Given the description of an element on the screen output the (x, y) to click on. 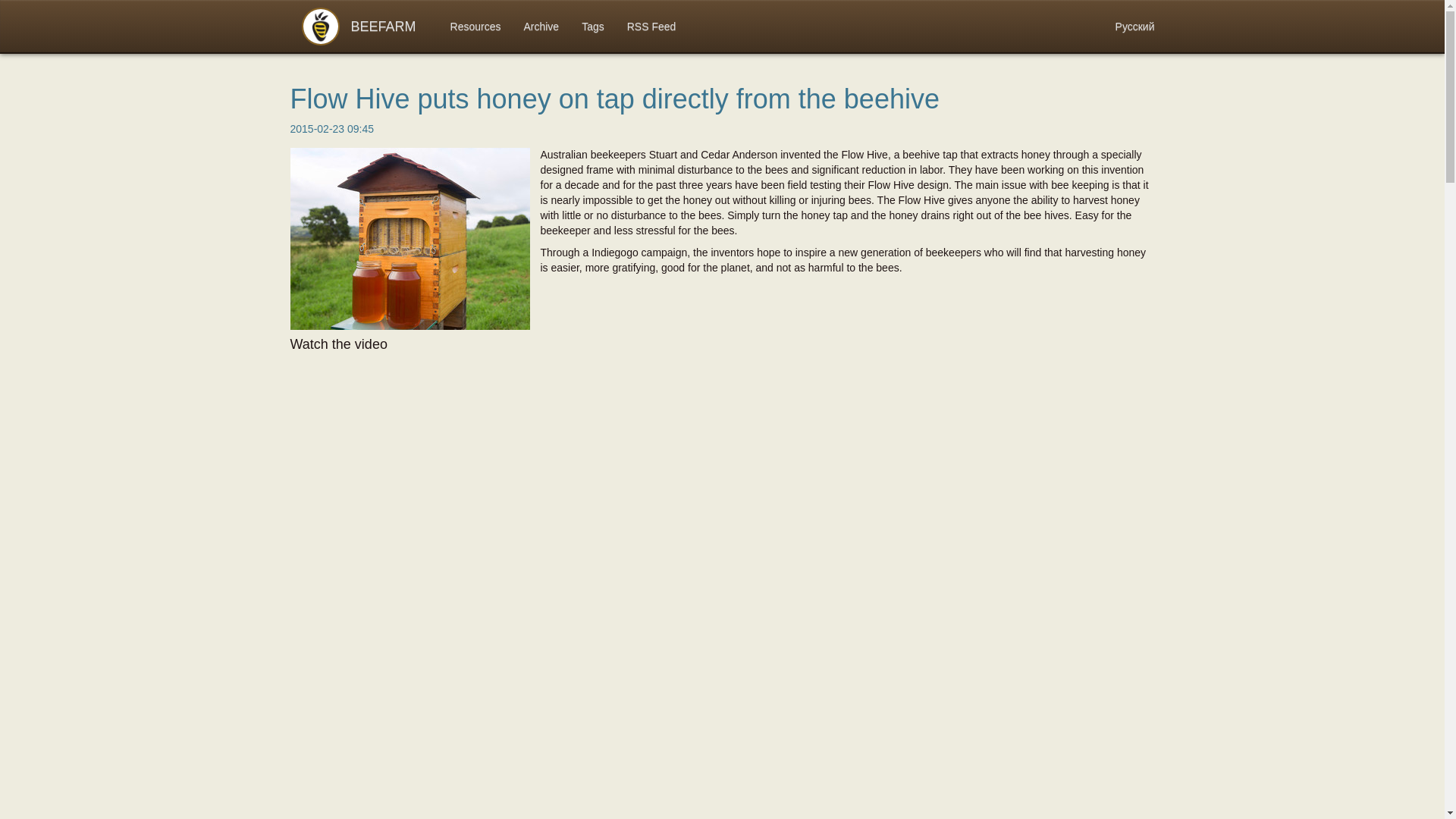
RSS Feed (651, 26)
2015-02-23 09:45 (331, 128)
BEEFARM (363, 26)
Archive (541, 26)
2015-02-23 09:45 (331, 128)
Resources (475, 26)
Flow Hive puts honey on tap directly from the beehive (614, 98)
